Given the description of an element on the screen output the (x, y) to click on. 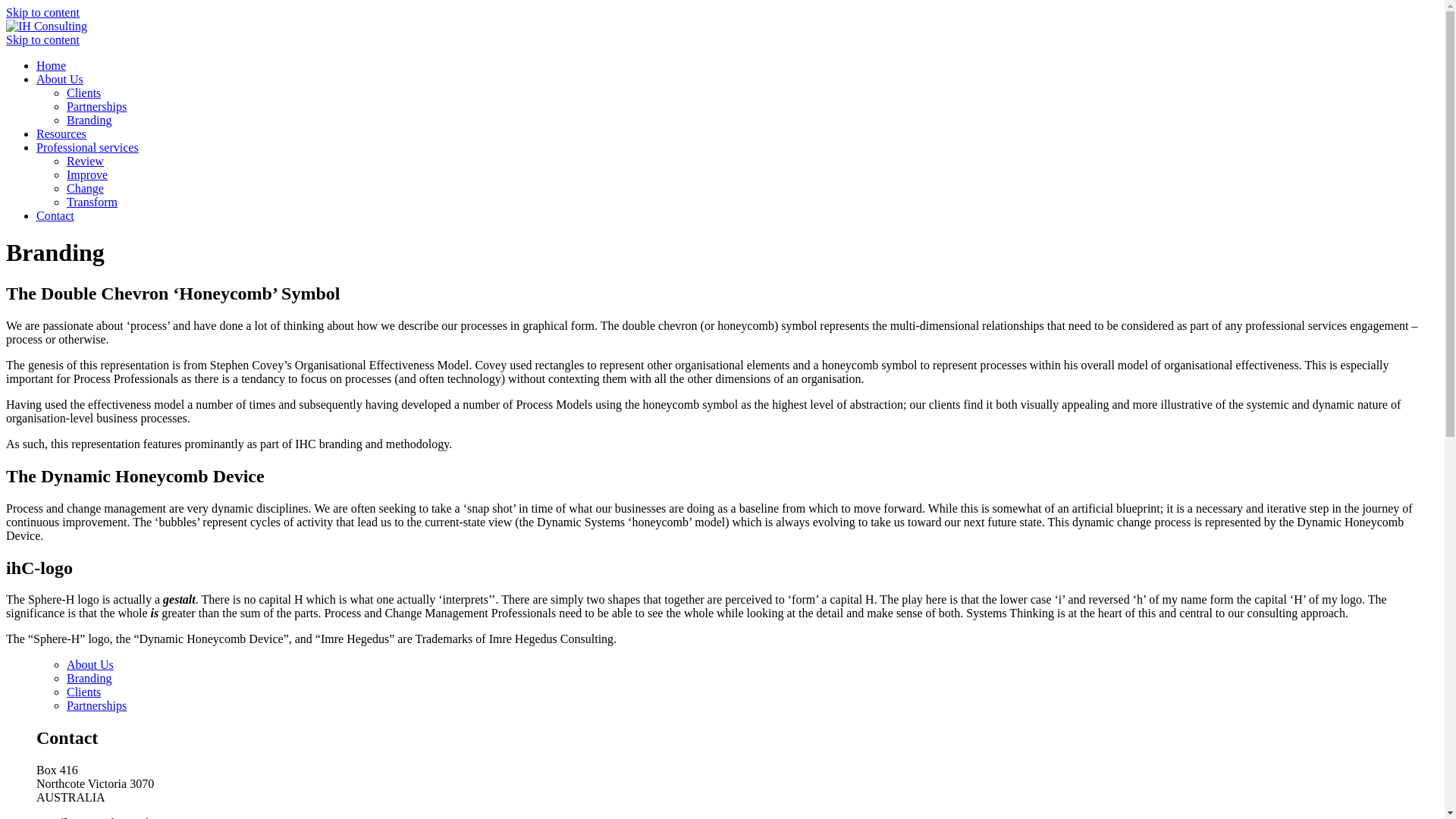
Professional services Element type: text (87, 147)
Partnerships Element type: text (96, 705)
Contact Element type: text (55, 215)
Resources Element type: text (61, 133)
Skip to content Element type: text (42, 39)
Skip to content Element type: text (42, 12)
IH Consulting Element type: hover (46, 25)
Home Element type: text (50, 65)
Clients Element type: text (83, 92)
Branding Element type: text (89, 119)
Clients Element type: text (83, 691)
Branding Element type: text (89, 677)
Change Element type: text (84, 188)
About Us Element type: text (59, 78)
Transform Element type: text (91, 201)
Partnerships Element type: text (96, 106)
Improve Element type: text (86, 174)
About Us Element type: text (89, 664)
Review Element type: text (84, 160)
